Given the description of an element on the screen output the (x, y) to click on. 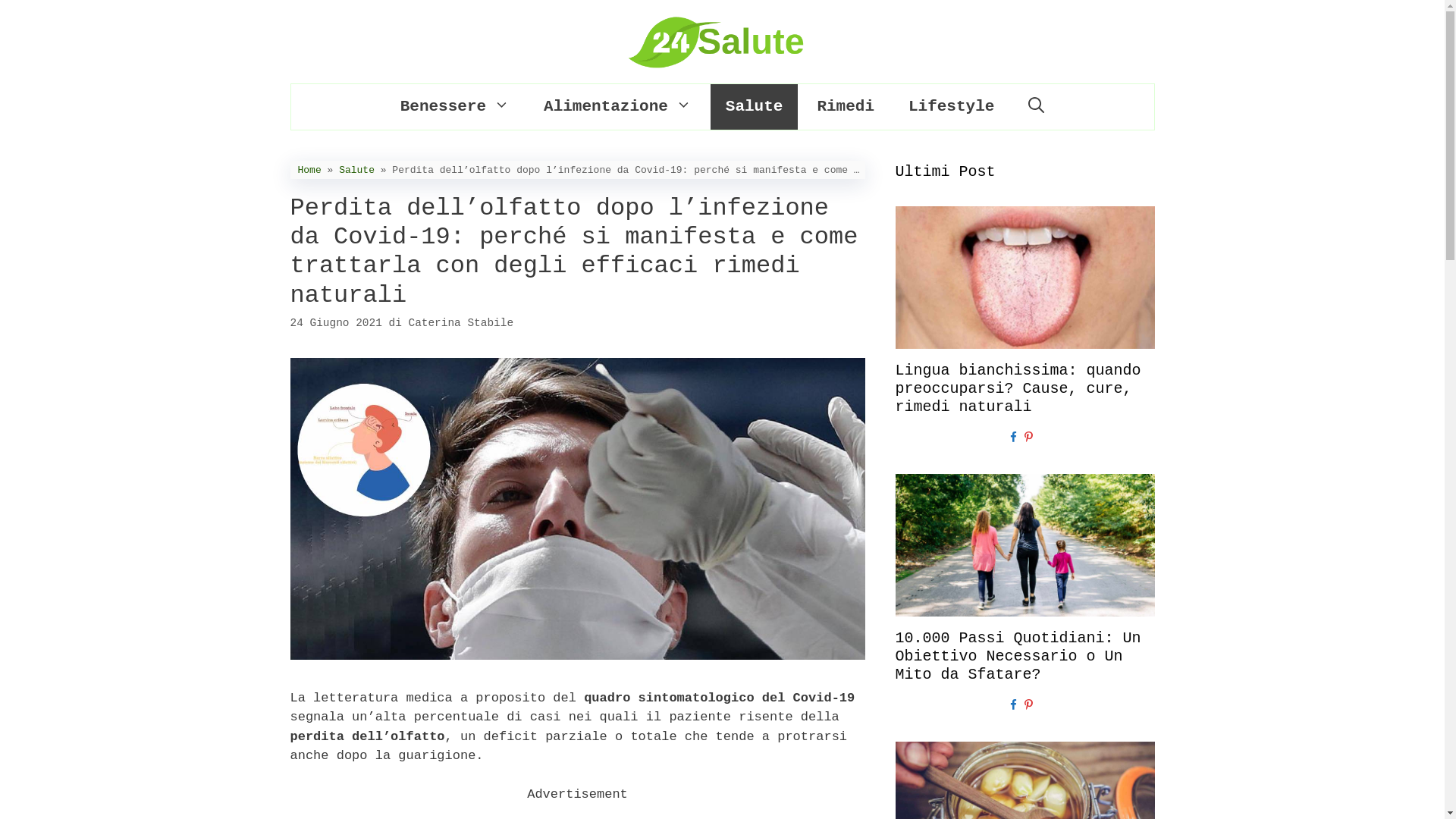
Pinterest Element type: text (1027, 438)
Home Element type: text (308, 169)
Caterina Stabile Element type: text (460, 322)
Pinterest Element type: text (1027, 706)
Facebook Element type: text (1013, 706)
Lifestyle Element type: text (951, 106)
Facebook Element type: text (1013, 438)
Rimedi Element type: text (845, 106)
Salute Element type: text (754, 106)
Salute Element type: text (356, 169)
Alimentazione Element type: text (617, 106)
Benessere Element type: text (454, 106)
